Given the description of an element on the screen output the (x, y) to click on. 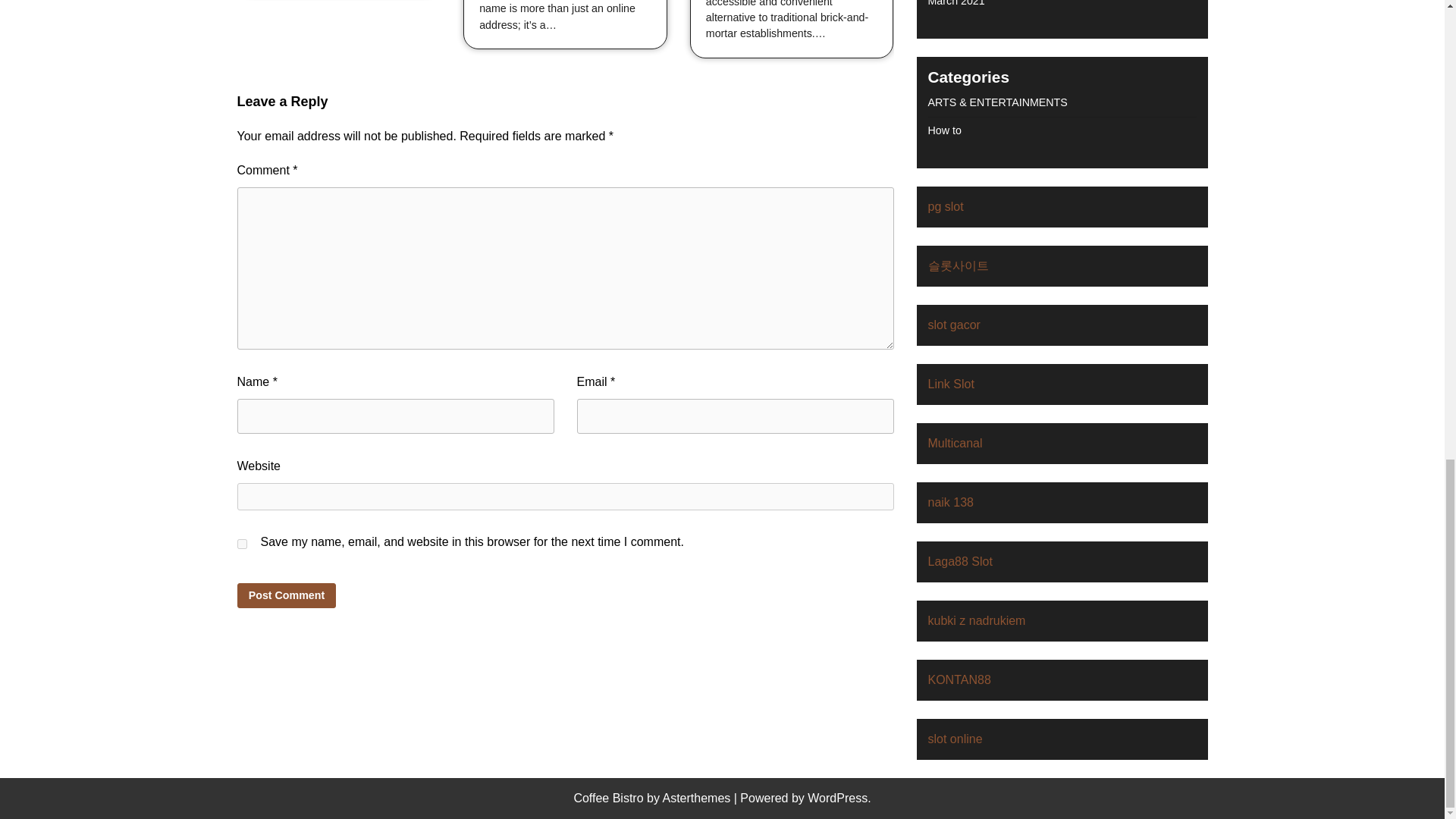
yes (240, 543)
Post Comment (285, 595)
Post Comment (285, 595)
